Given the description of an element on the screen output the (x, y) to click on. 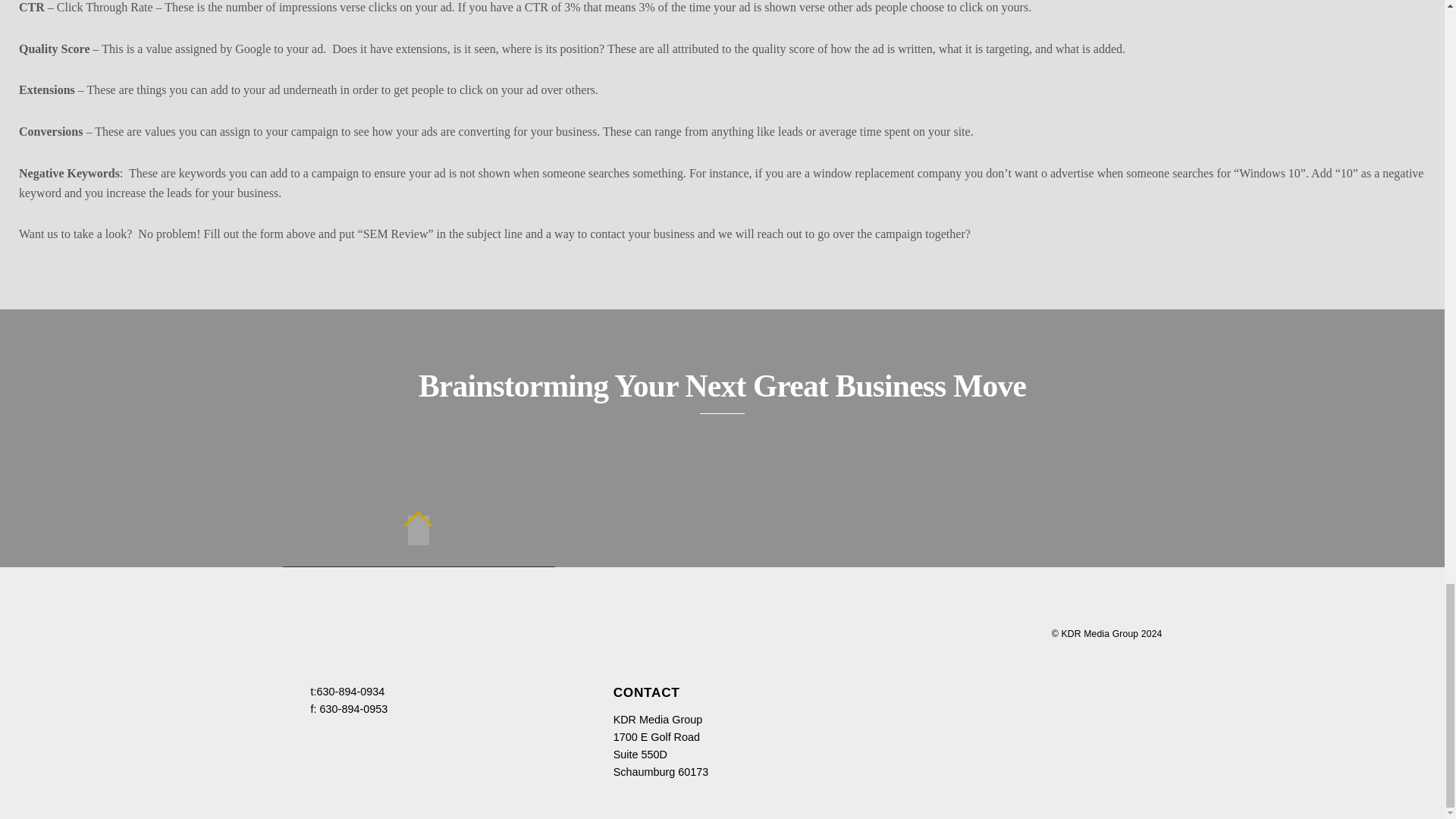
KDR Media Group (1099, 633)
